Given the description of an element on the screen output the (x, y) to click on. 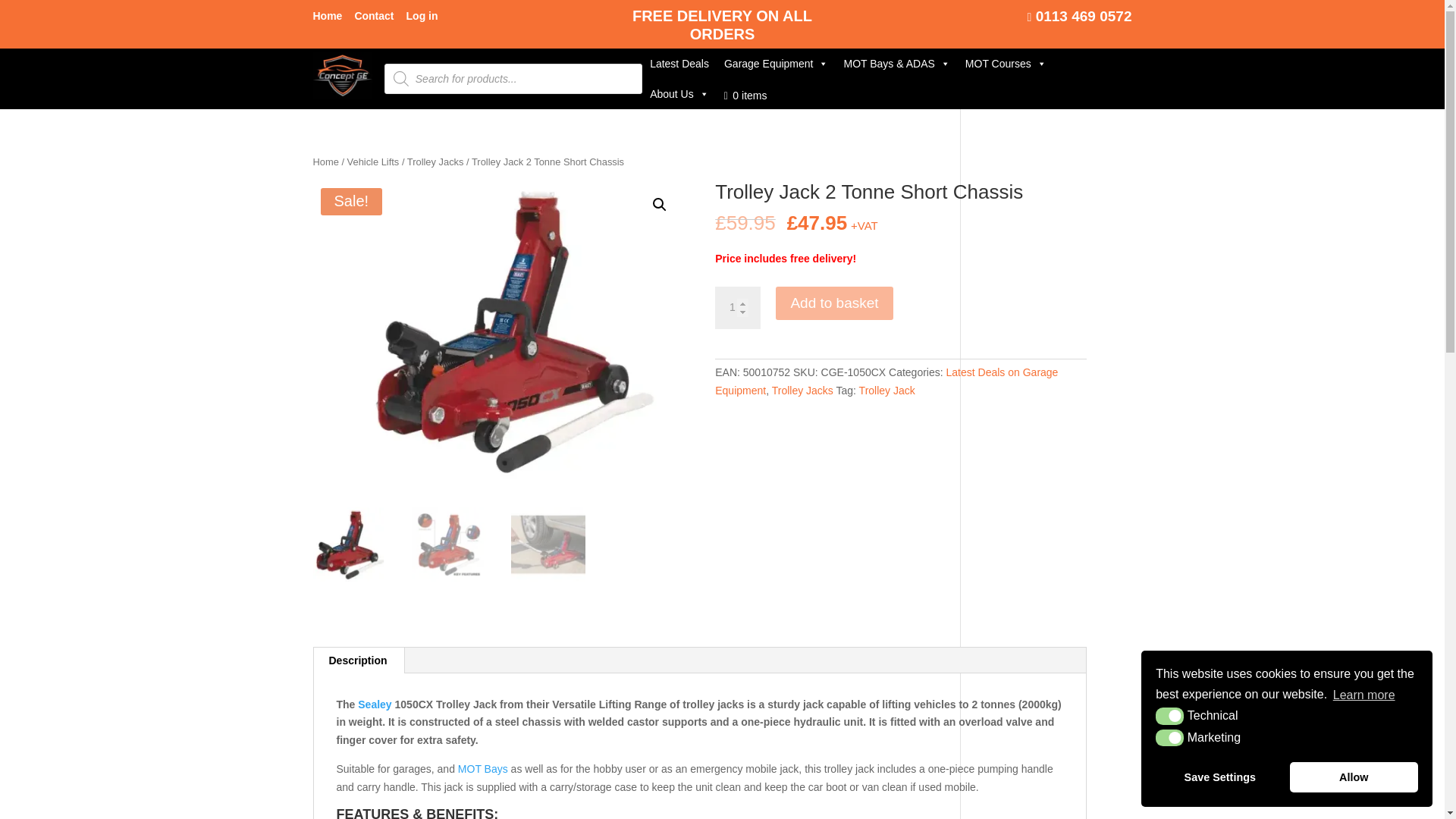
Garage Equipment (775, 63)
Log in (422, 18)
Trolley Jack 2 Tonne Short Chassis - Sealey Tools (513, 331)
FREE DELIVERY ON ALL ORDERS (721, 24)
Latest Deals (679, 63)
Home (327, 18)
1 (737, 307)
Contact (373, 18)
Start shopping (745, 93)
